Given the description of an element on the screen output the (x, y) to click on. 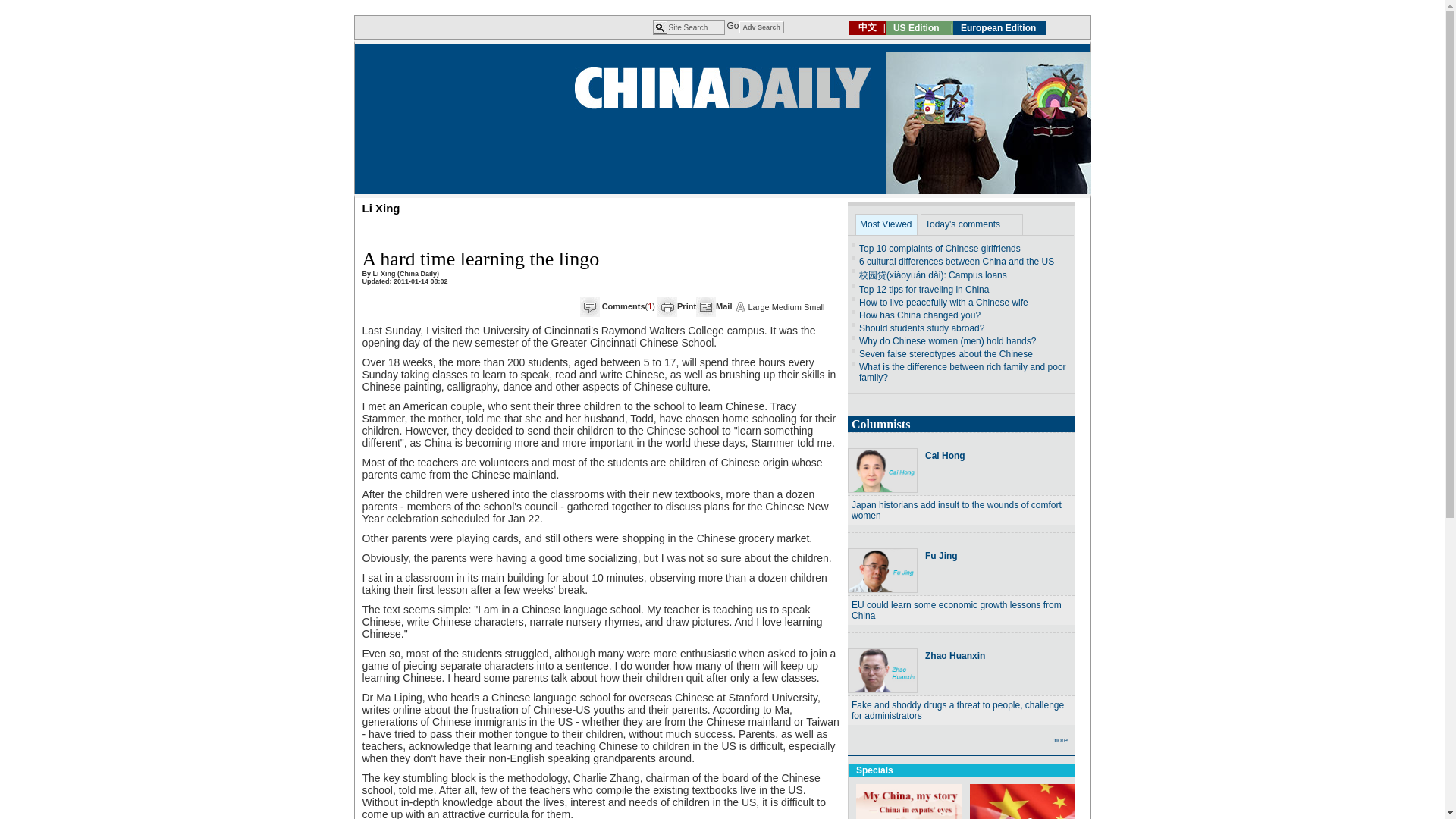
Mail (724, 306)
Small (814, 307)
Medium (786, 307)
Print (686, 306)
Large (758, 307)
